Given the description of an element on the screen output the (x, y) to click on. 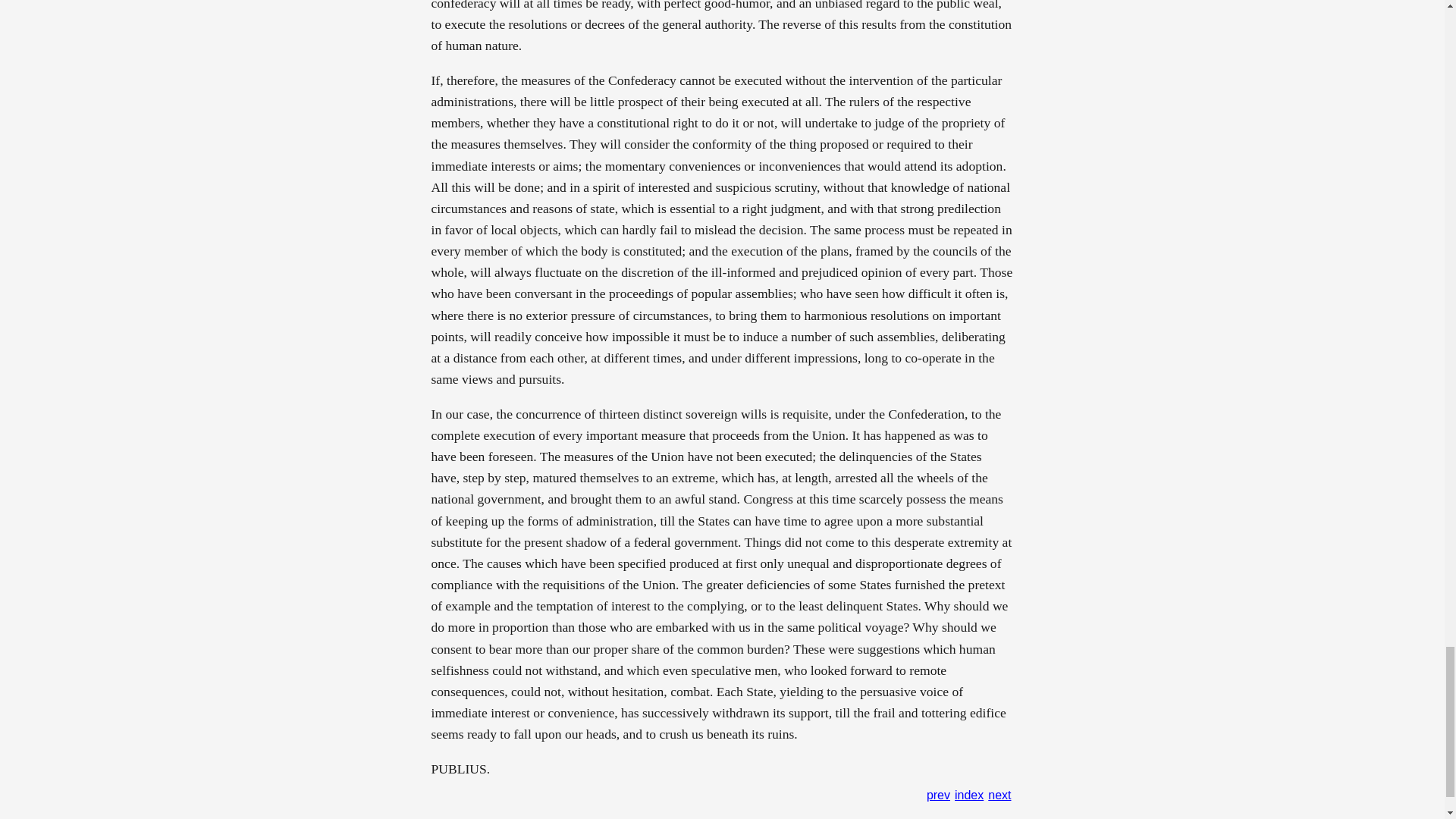
next (999, 794)
prev (938, 794)
index (969, 794)
